Given the description of an element on the screen output the (x, y) to click on. 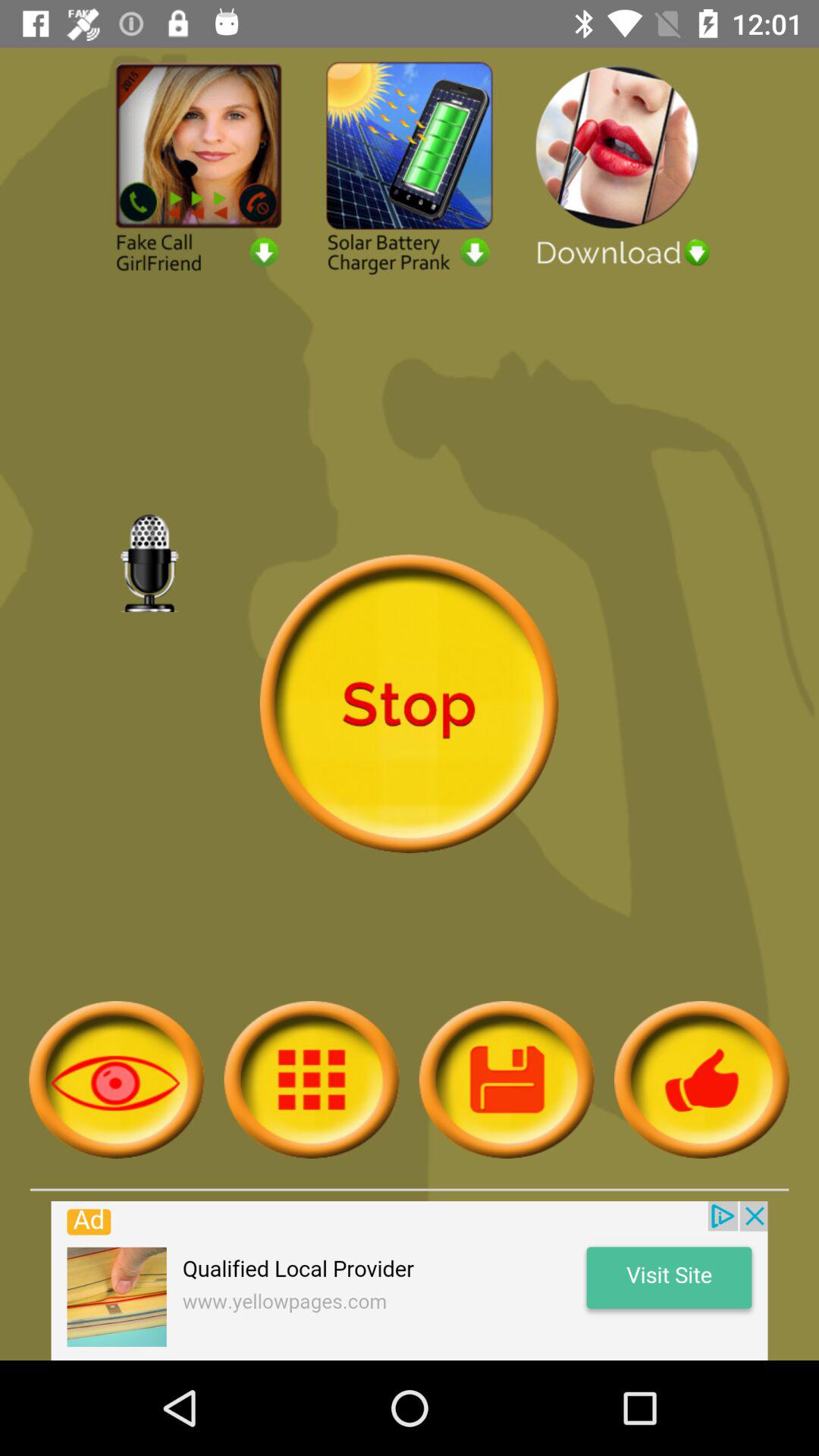
stop (408, 703)
